Given the description of an element on the screen output the (x, y) to click on. 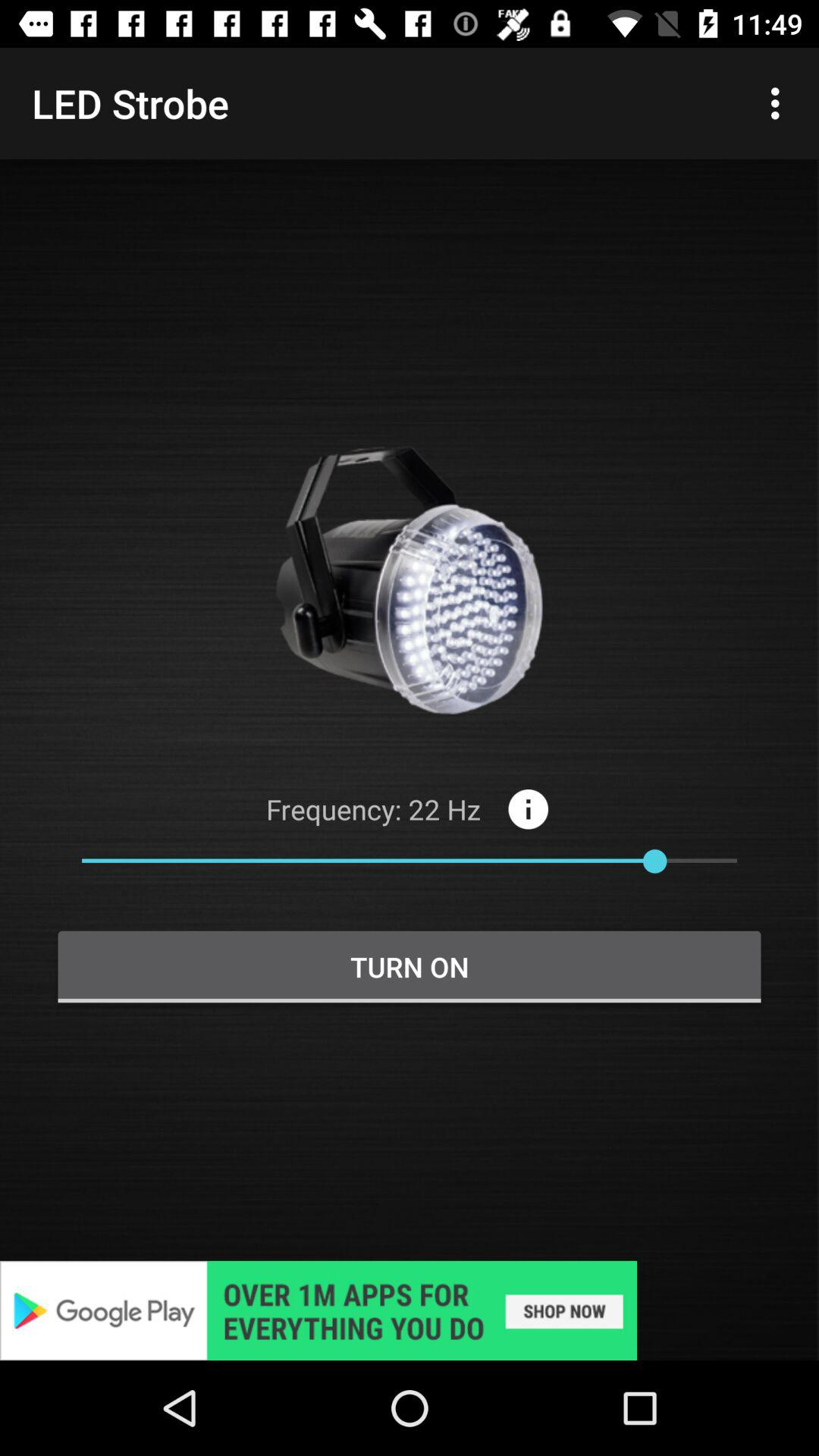
information (528, 809)
